Given the description of an element on the screen output the (x, y) to click on. 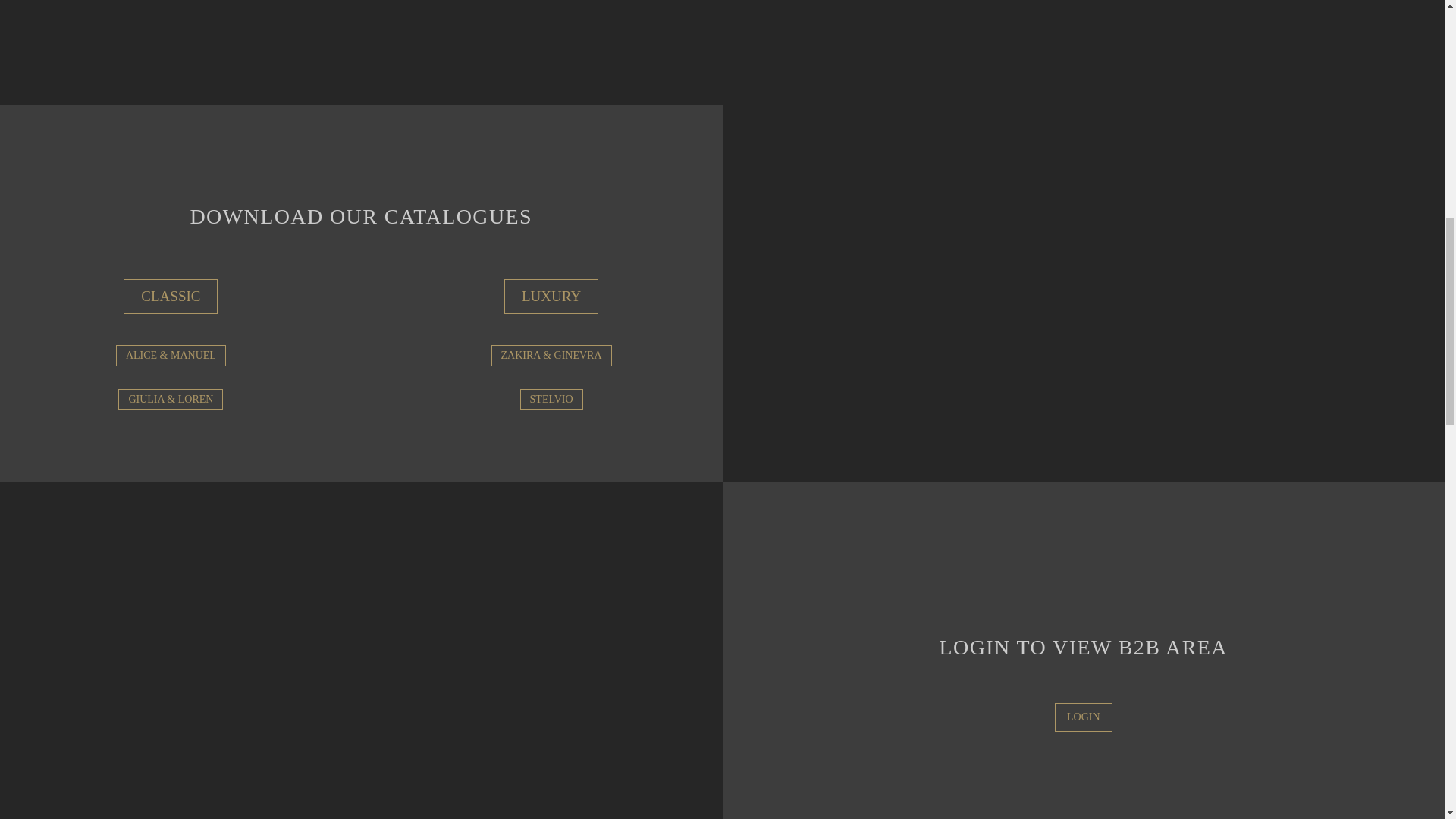
LOGIN (1083, 717)
LUXURY (550, 296)
STELVIO (551, 399)
CLASSIC (169, 296)
